Given the description of an element on the screen output the (x, y) to click on. 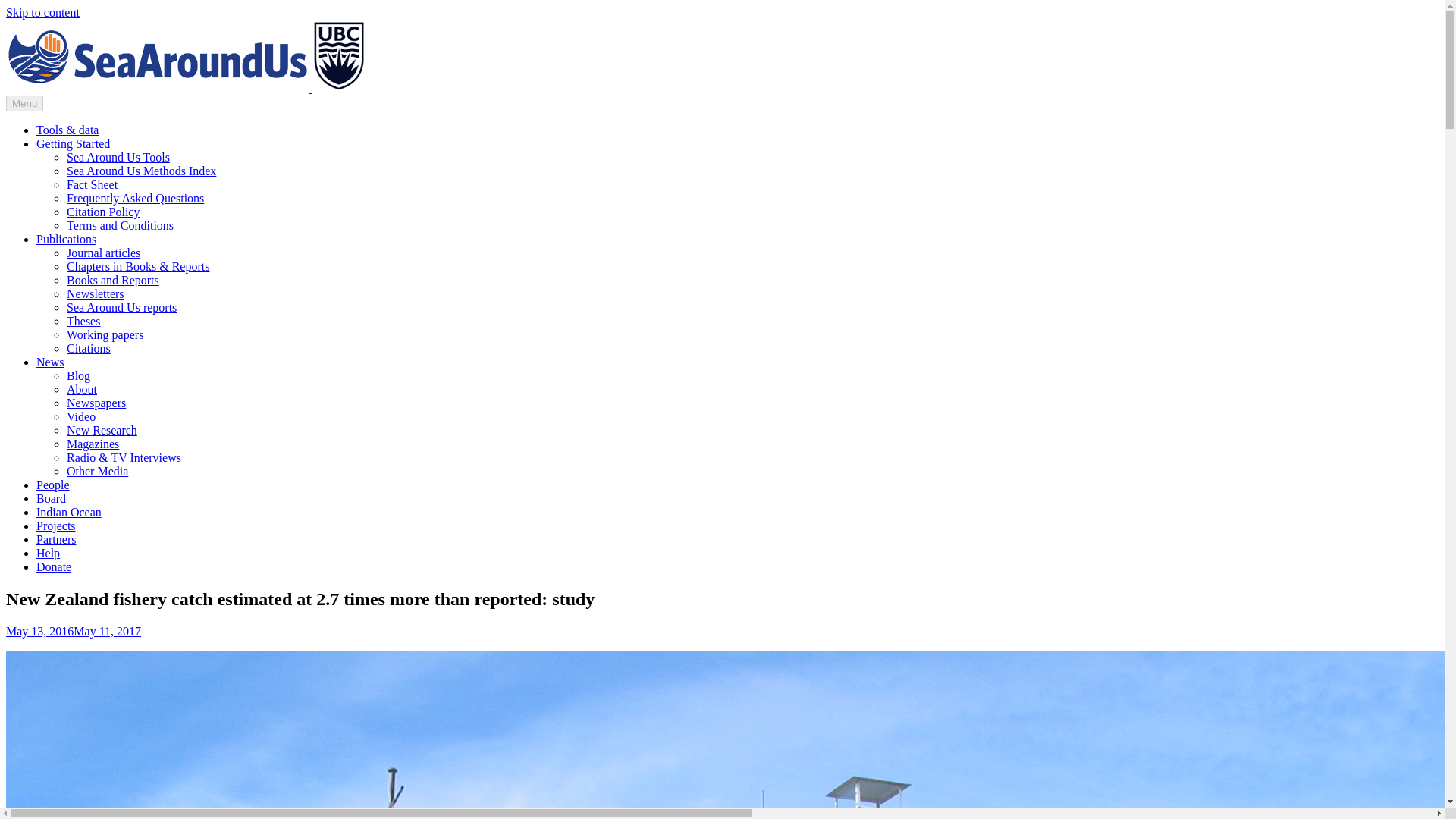
Help (47, 553)
Getting Started (73, 143)
Menu (24, 103)
Fact Sheet (91, 184)
Working papers (104, 334)
Sea Around Us Tools (118, 156)
News (50, 361)
Publications (66, 238)
Theses (83, 320)
Frequently Asked Questions (134, 197)
Donate (53, 566)
Skip to content (42, 11)
Magazines (92, 443)
Citations (88, 348)
About (81, 389)
